Given the description of an element on the screen output the (x, y) to click on. 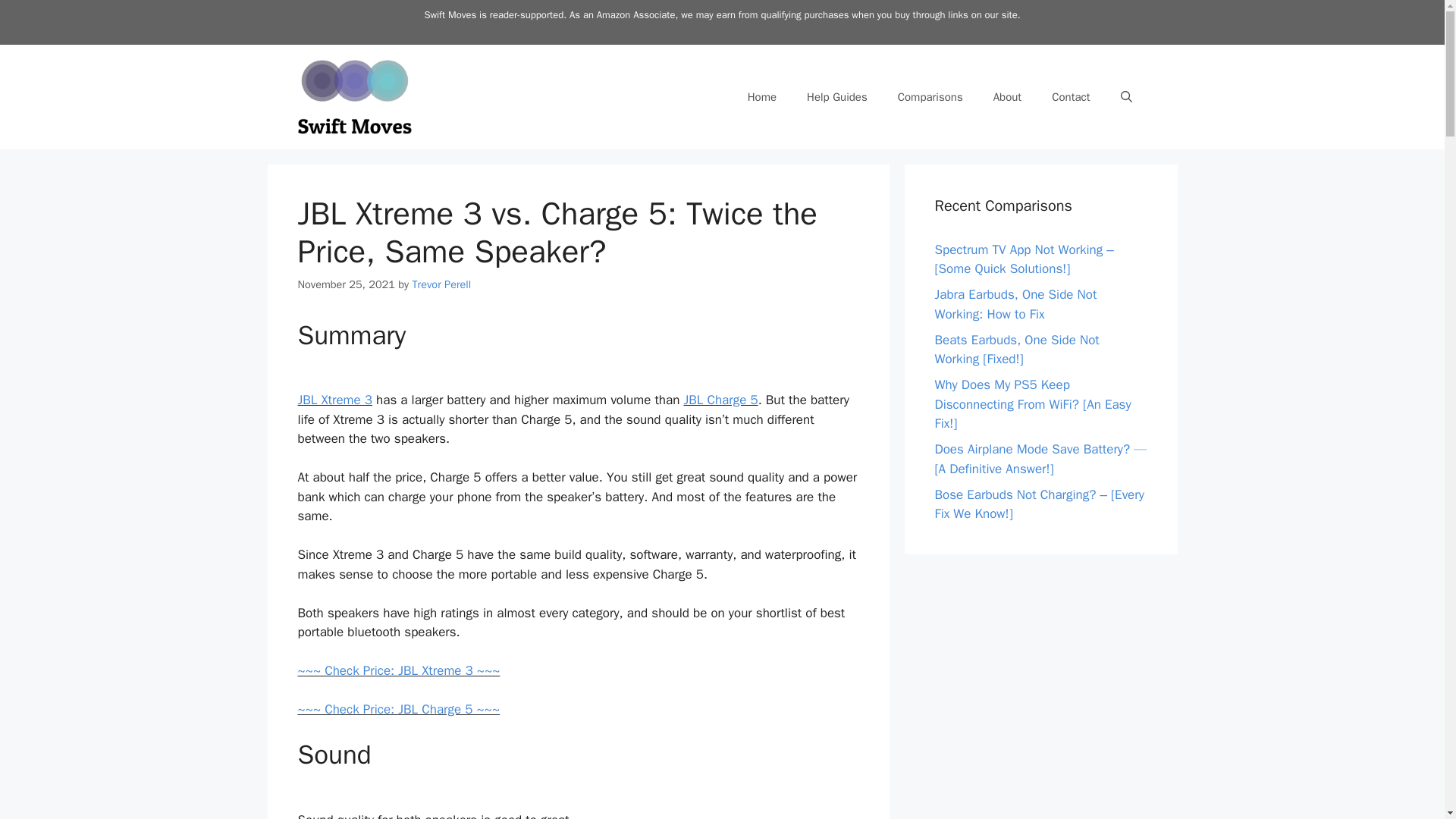
JBL Xtreme 3 (334, 399)
Home (762, 96)
View all posts by Trevor Perell (441, 284)
JBL Charge 5 (719, 399)
Help Guides (837, 96)
About (1007, 96)
Contact (1070, 96)
Trevor Perell (441, 284)
Swift Moves (353, 95)
Comparisons (930, 96)
